Given the description of an element on the screen output the (x, y) to click on. 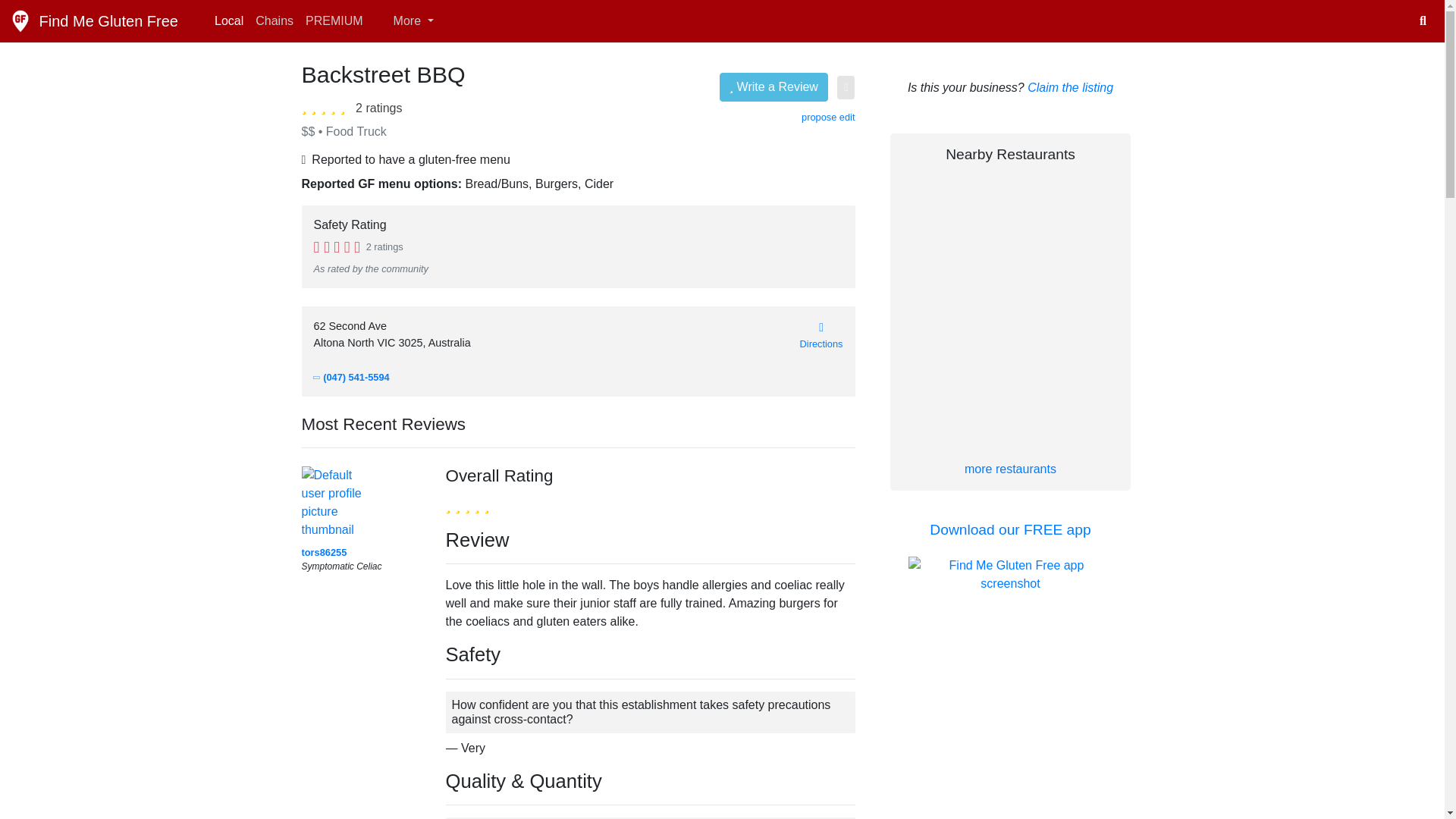
4.85 safety rating (336, 246)
Find Me Gluten Free (94, 20)
more restaurants (1010, 468)
Directions (821, 334)
5 star rating (467, 504)
5.0 star rating (325, 105)
More (404, 20)
propose edit (828, 116)
Chains (273, 20)
Download our FREE app (1010, 529)
